Given the description of an element on the screen output the (x, y) to click on. 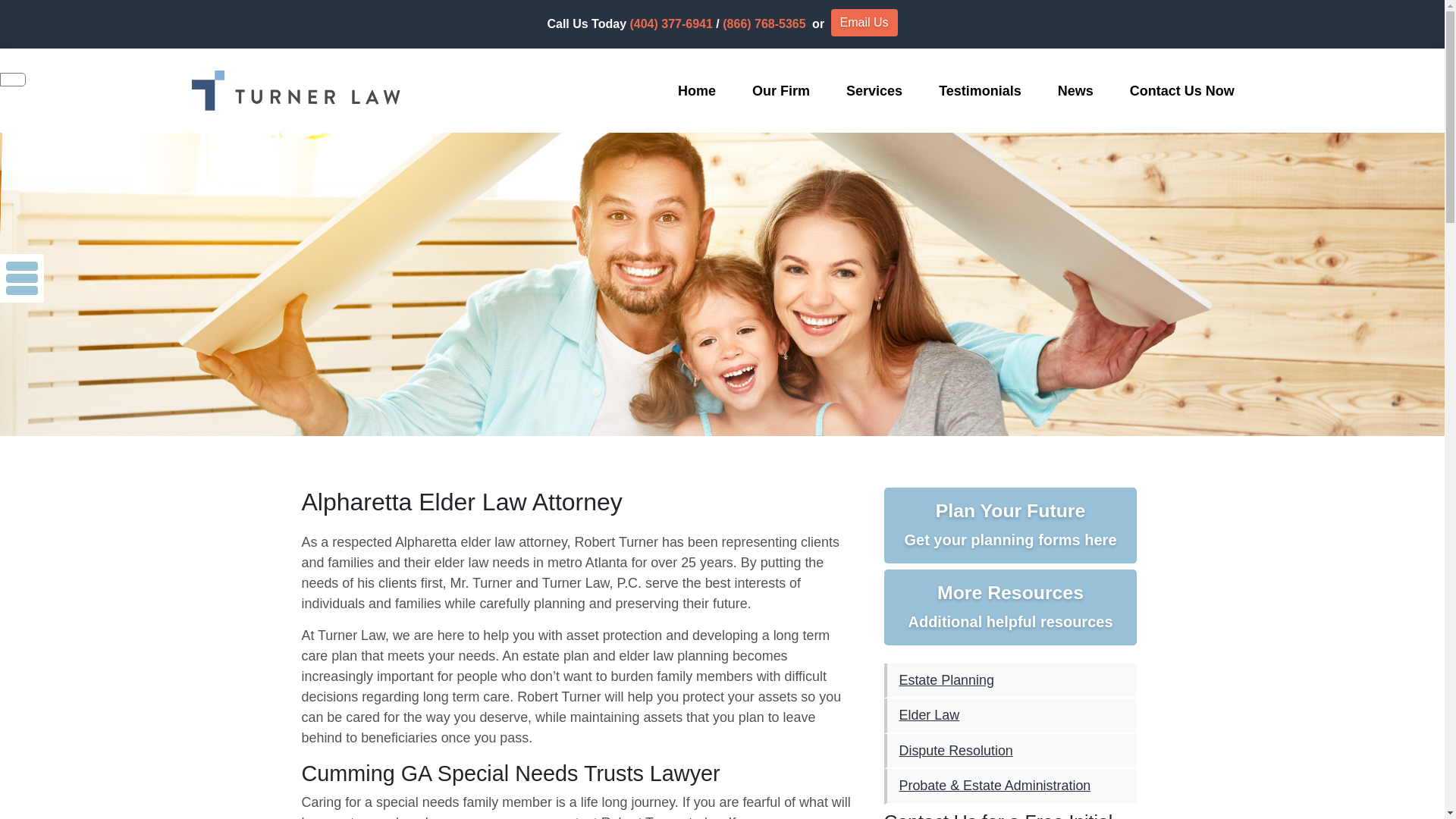
Estate Planning (1010, 680)
Skip to main content (1010, 607)
Home (1010, 525)
Testimonials (11, 7)
Contact Us Now (696, 90)
Services (979, 90)
on (1182, 90)
Our Firm (874, 90)
